Given the description of an element on the screen output the (x, y) to click on. 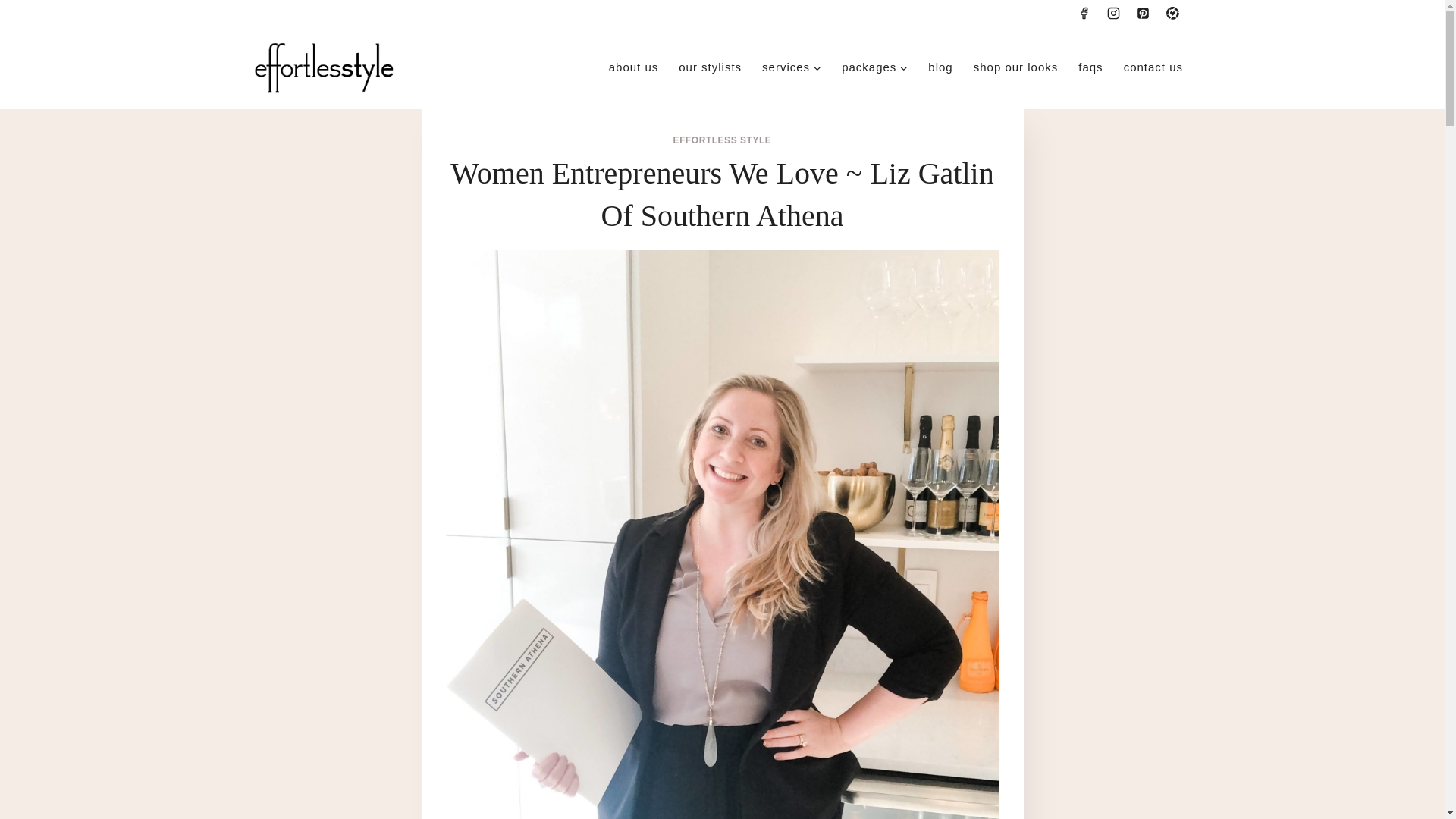
contact us (1152, 67)
our stylists (710, 67)
faqs (1090, 67)
services (791, 67)
shop our looks (1015, 67)
EFFORTLESS STYLE (721, 140)
about us (633, 67)
packages (874, 67)
blog (940, 67)
